Given the description of an element on the screen output the (x, y) to click on. 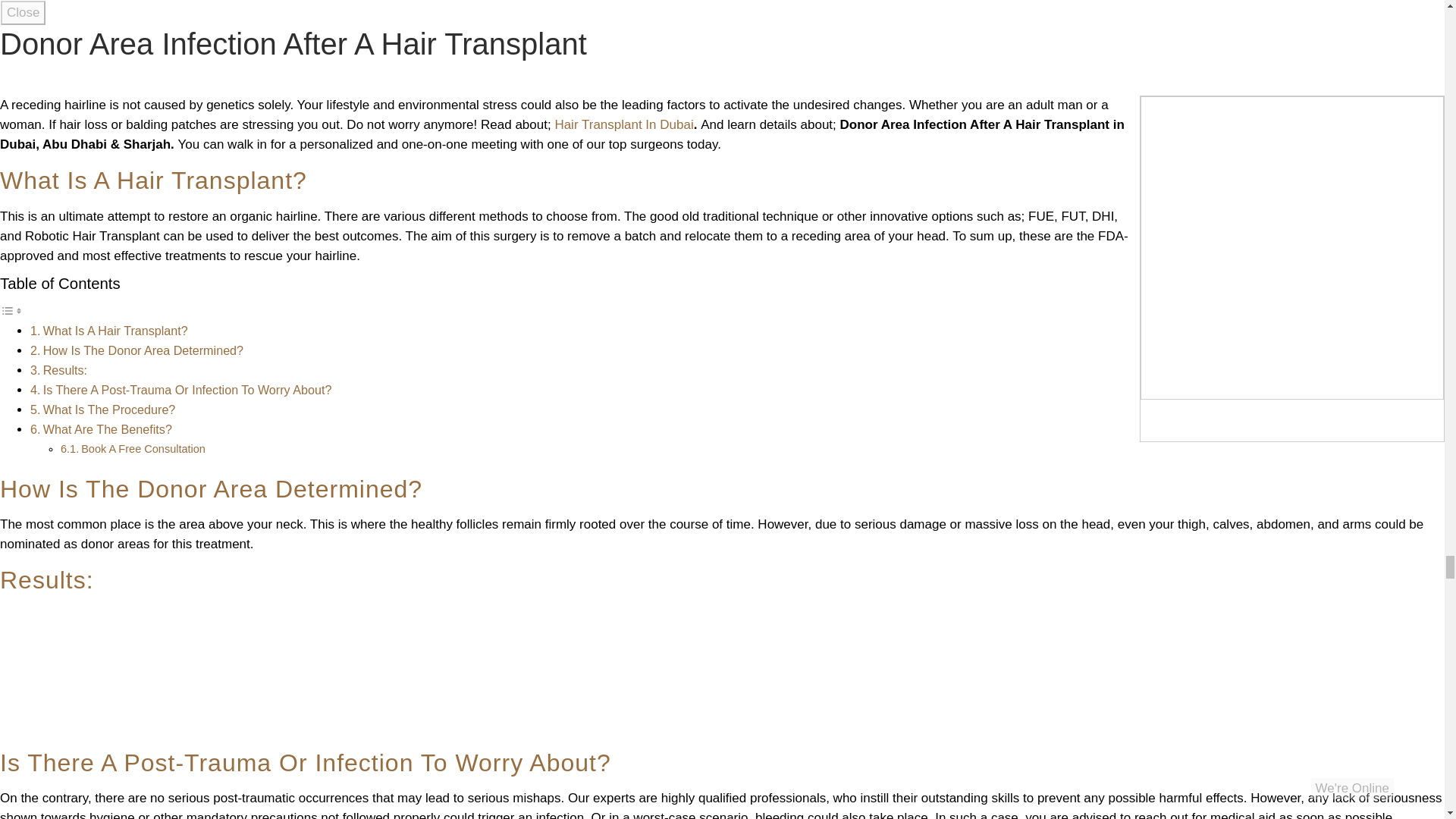
Is There A Post-Trauma Or Infection To Worry About? (187, 389)
Results: (65, 369)
How Is The Donor Area Determined? (143, 350)
What Is A Hair Transplant? (115, 330)
What Are The Benefits? (107, 428)
Book A Free Consultation (143, 449)
What Is The Procedure? (109, 409)
